Given the description of an element on the screen output the (x, y) to click on. 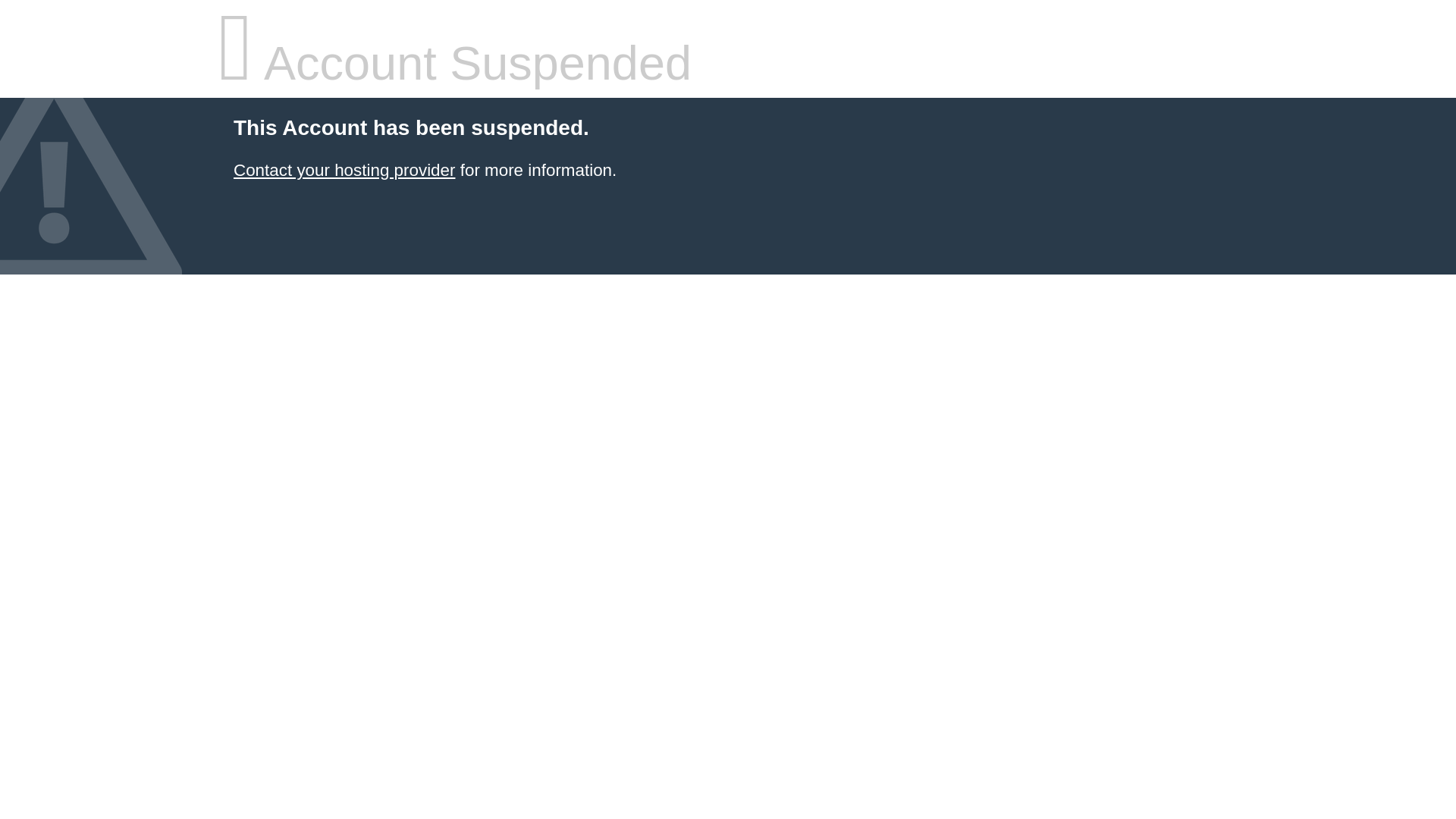
Contact your hosting provider (343, 169)
